Given the description of an element on the screen output the (x, y) to click on. 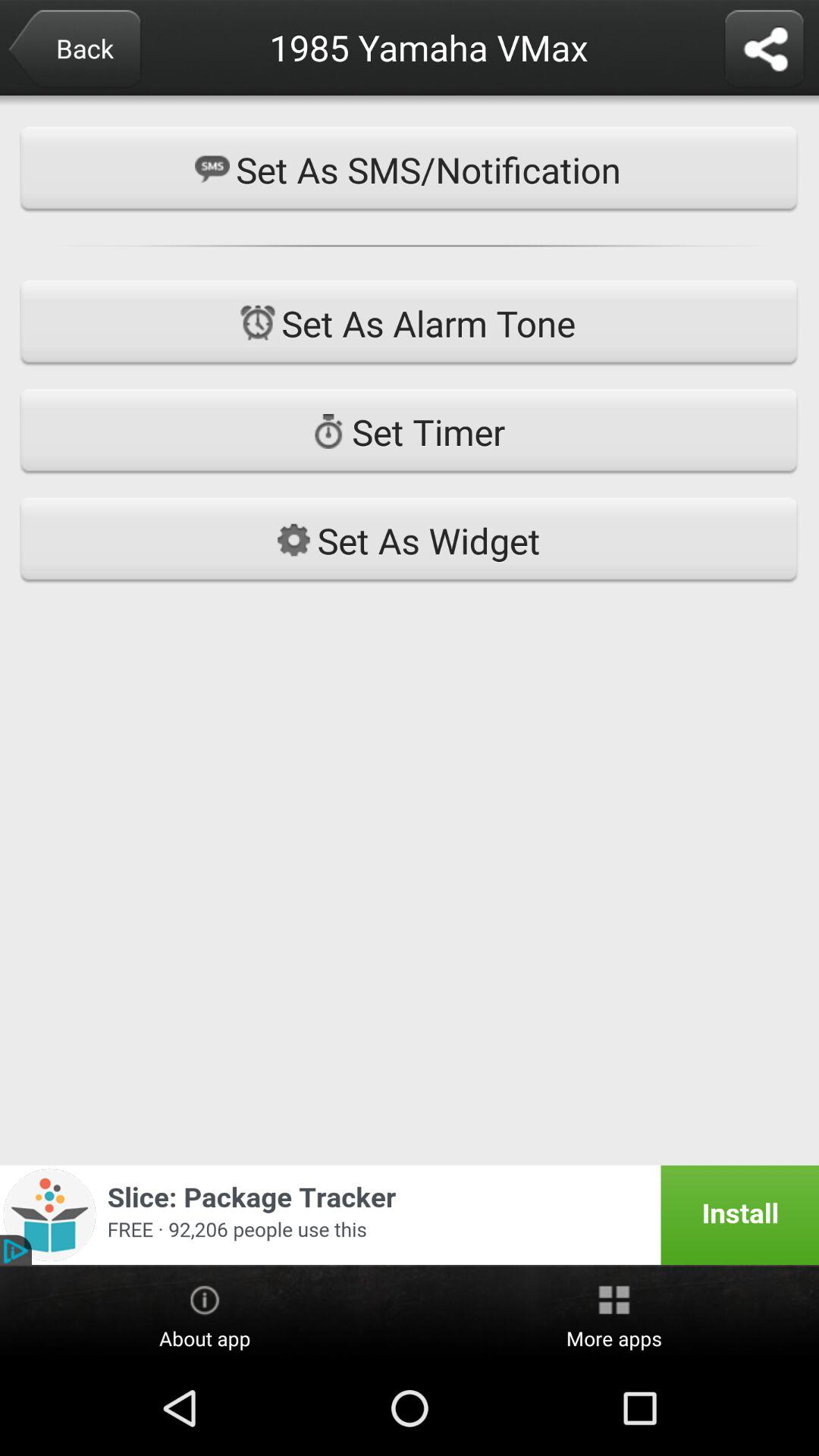
advertising link (409, 1214)
